Given the description of an element on the screen output the (x, y) to click on. 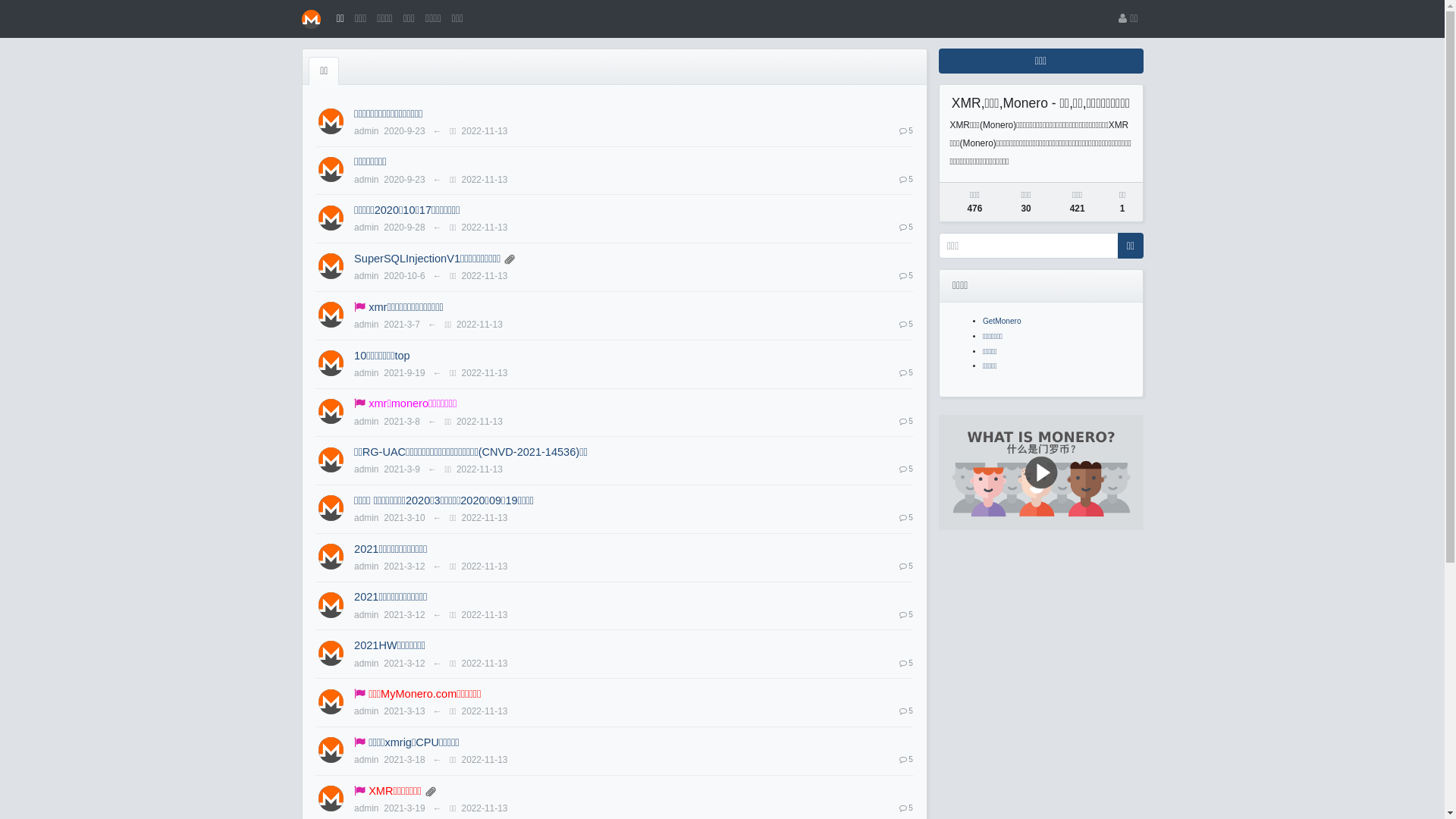
GetMonero Element type: text (1001, 320)
